Given the description of an element on the screen output the (x, y) to click on. 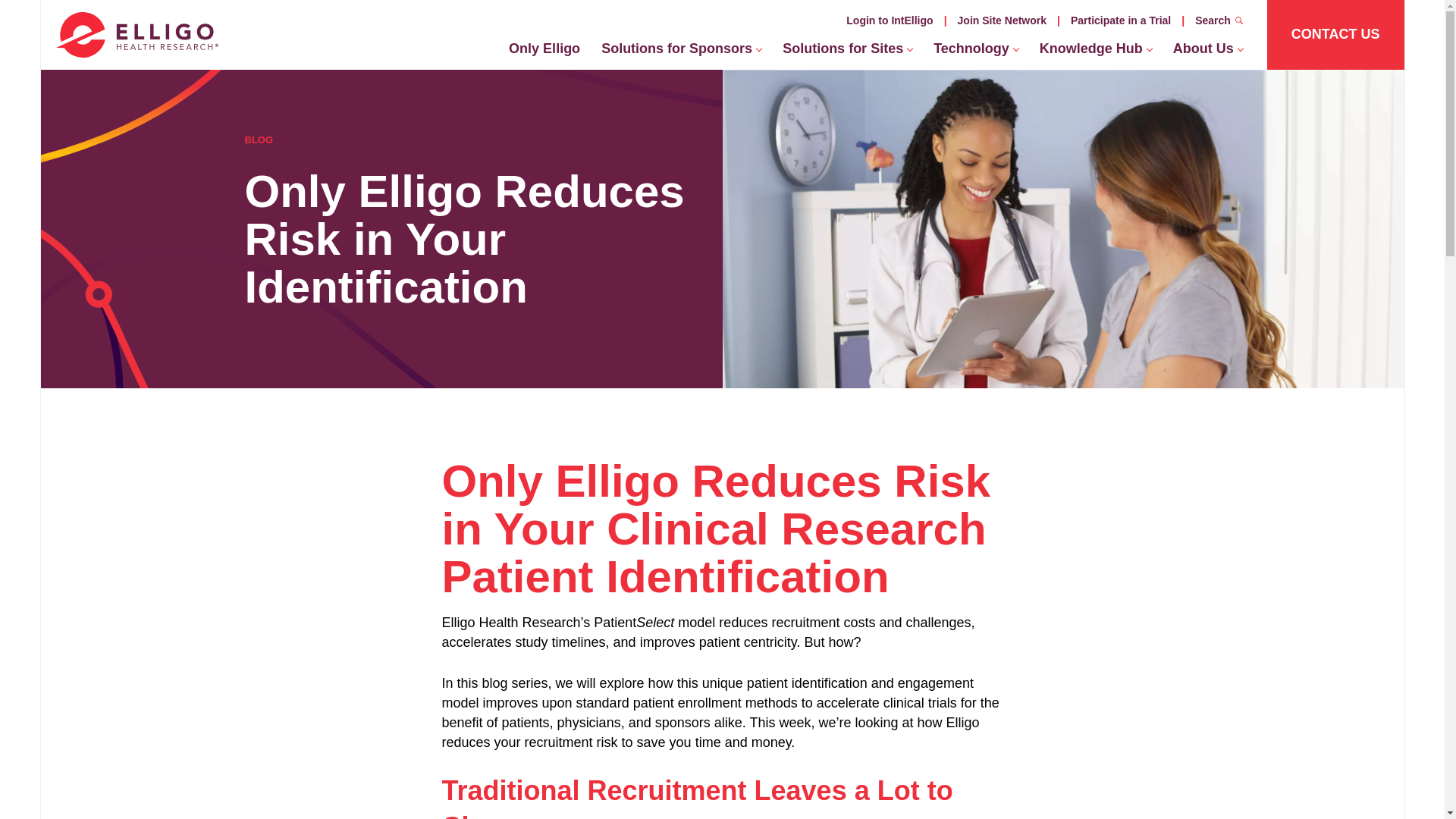
About Us (1207, 51)
Only Elligo (544, 51)
Login to IntElligo (889, 20)
Search Open Search (1219, 20)
Knowledge Hub (1095, 51)
Solutions for Sites (847, 51)
Open Search (1238, 20)
Participate in a Trial (1119, 20)
CONTACT US (1335, 34)
Solutions for Sponsors (681, 51)
